Given the description of an element on the screen output the (x, y) to click on. 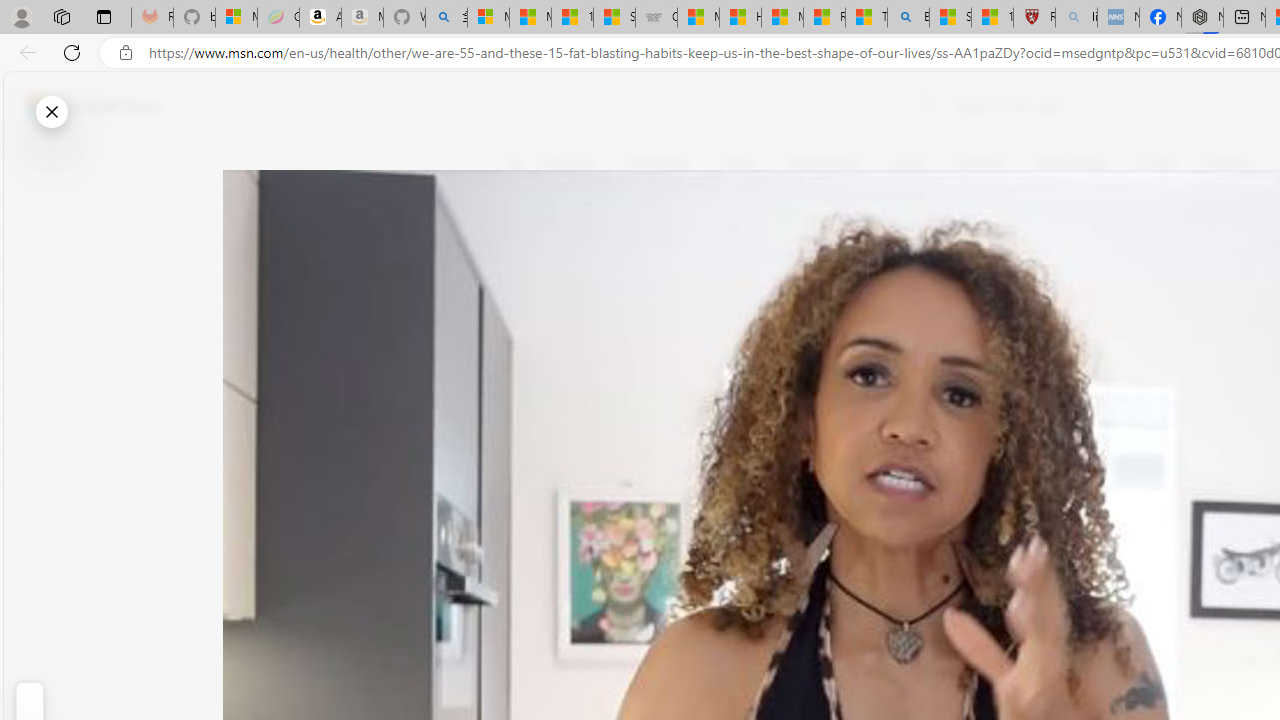
Recipes - MSN (823, 17)
Share this story (525, 412)
12 Popular Science Lies that Must be Corrected (991, 17)
Robert H. Shmerling, MD - Harvard Health (1033, 17)
